Given the description of an element on the screen output the (x, y) to click on. 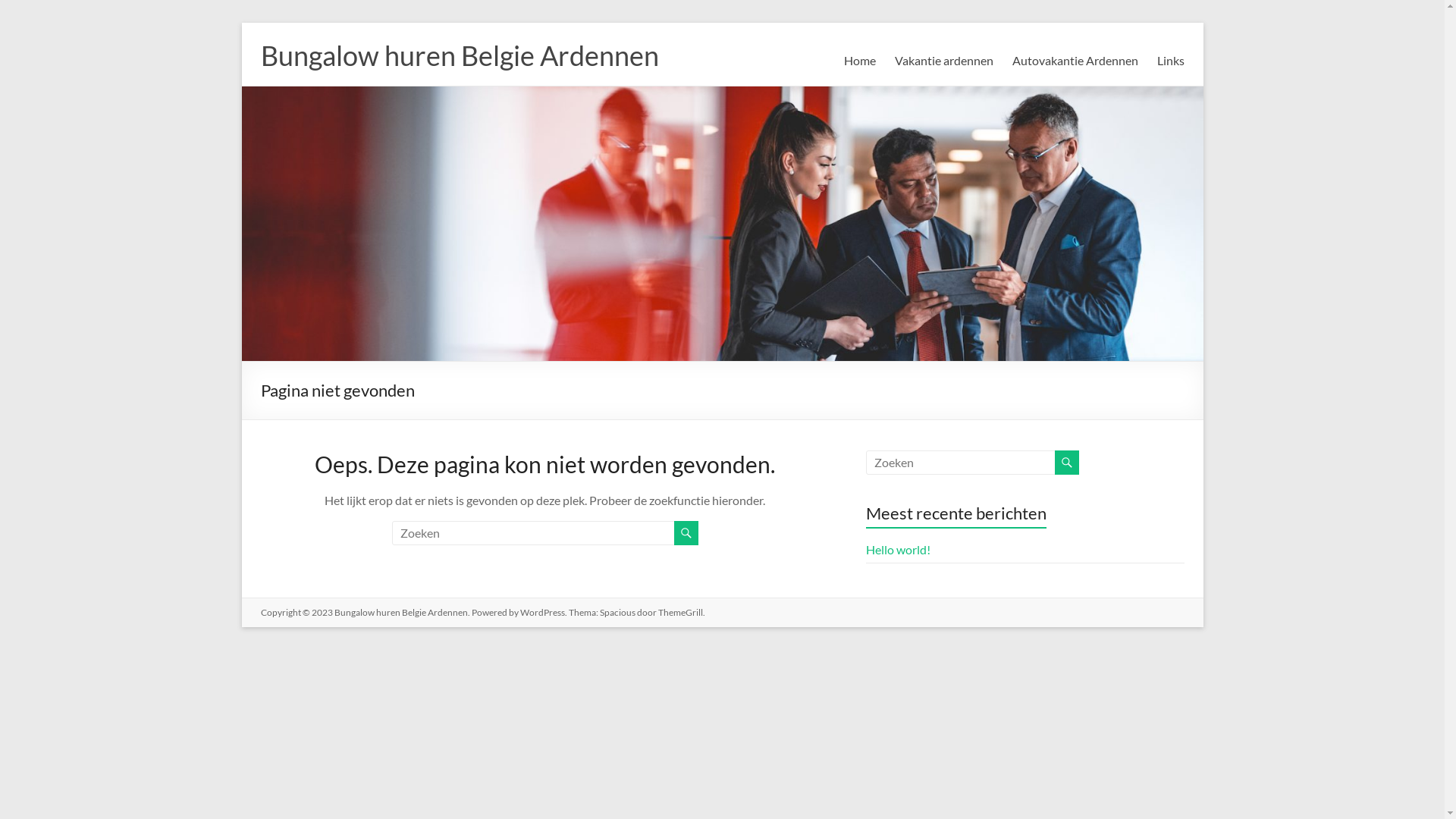
ThemeGrill Element type: text (680, 612)
Links Element type: text (1170, 60)
Bungalow huren Belgie Ardennen Element type: text (459, 55)
Home Element type: text (859, 60)
Bungalow huren Belgie Ardennen Element type: text (400, 612)
Autovakantie Ardennen Element type: text (1074, 60)
WordPress Element type: text (542, 612)
Hello world! Element type: text (898, 549)
Skip to content Element type: text (241, 21)
Vakantie ardennen Element type: text (943, 60)
